Given the description of an element on the screen output the (x, y) to click on. 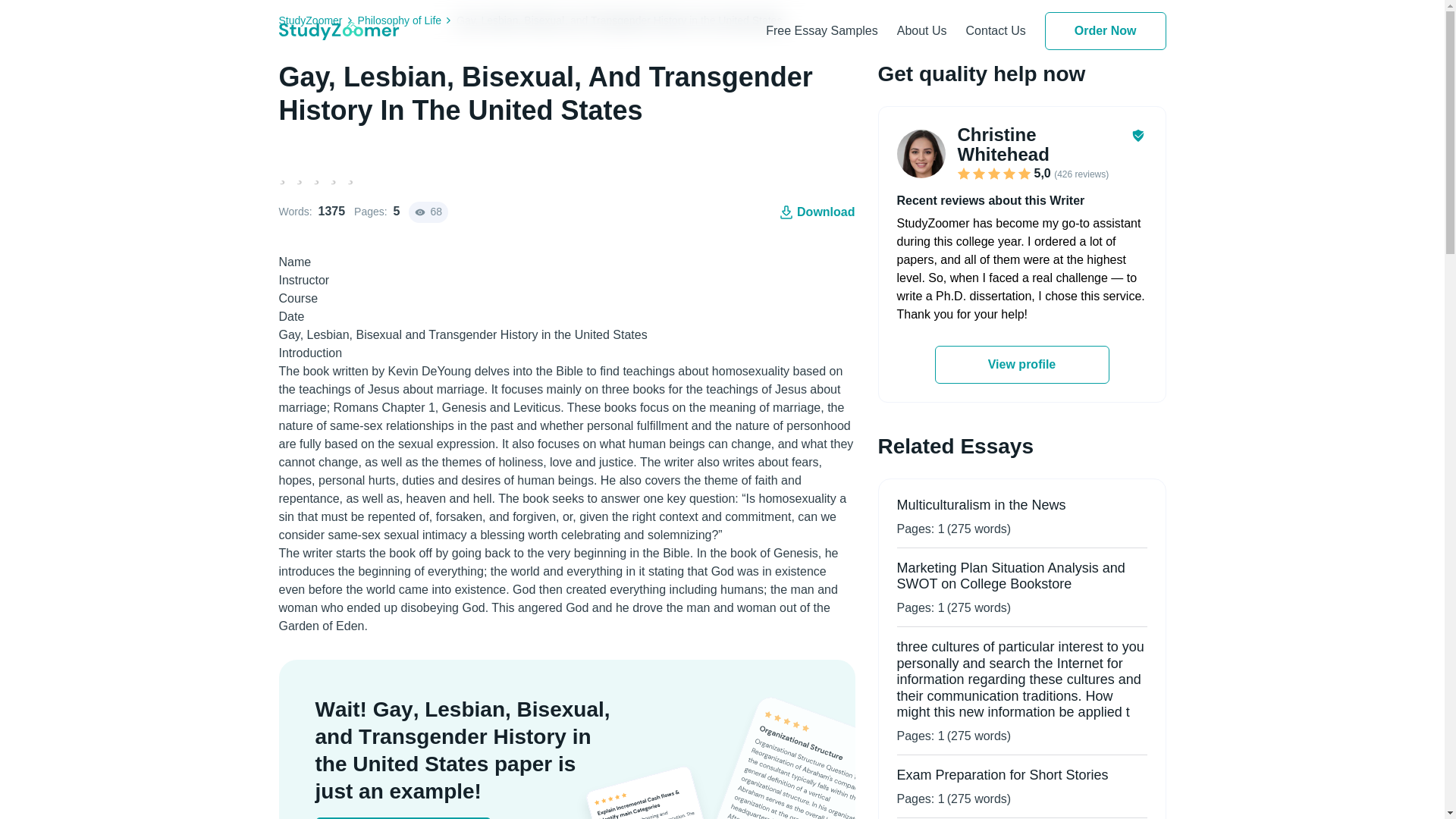
Download (815, 212)
Multiculturalism in the News (980, 504)
About Us (921, 31)
Order Now (1105, 30)
StudyZoomer (318, 20)
Order Now (1105, 30)
Study Zoomer (338, 31)
StudyZoomer (318, 20)
Philosophy of Life (407, 20)
View profile (1021, 364)
Exam Preparation for Short Stories (1002, 774)
